Given the description of an element on the screen output the (x, y) to click on. 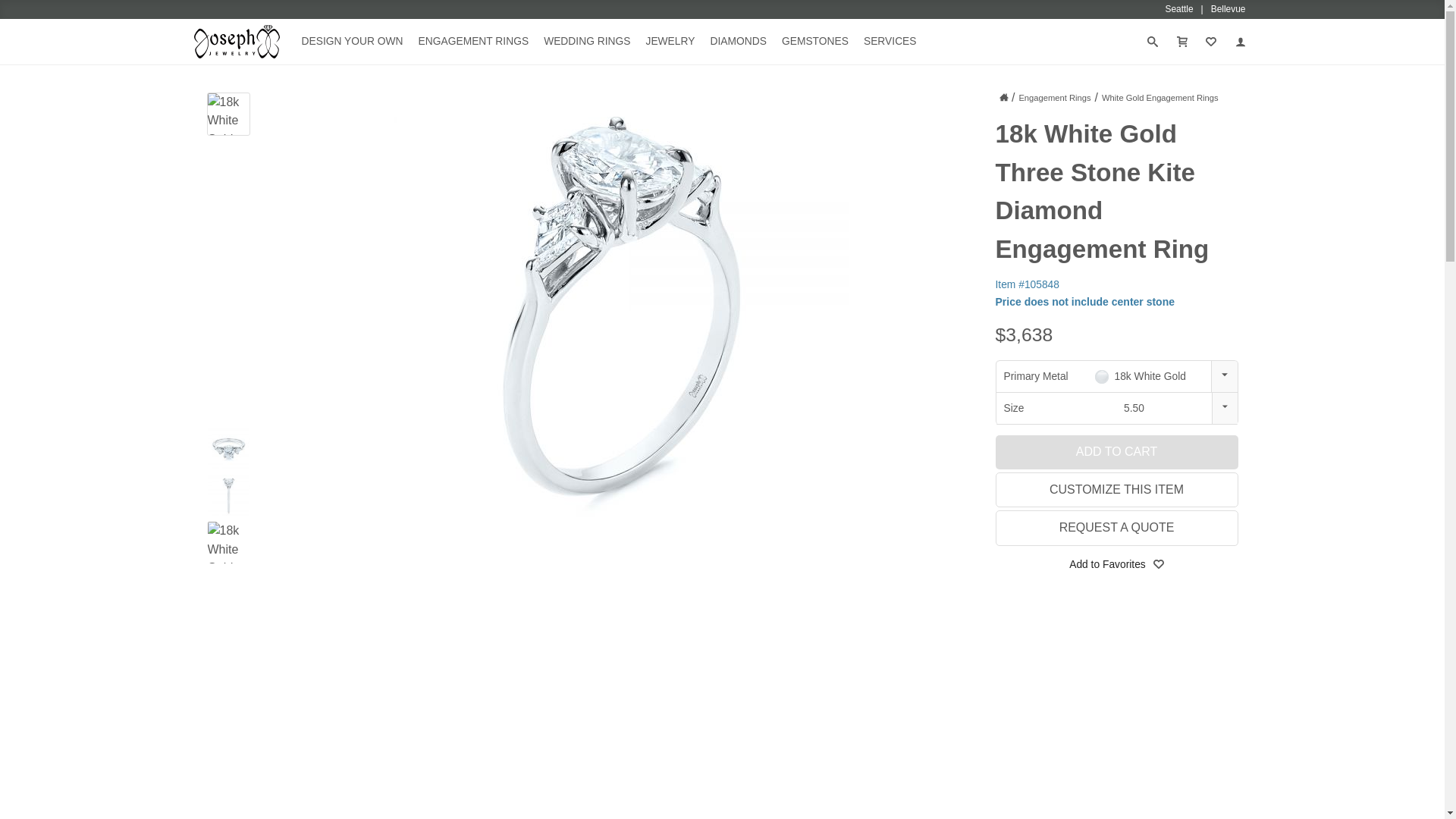
DESIGN YOUR OWN (352, 41)
Bellevue (1228, 8)
Search (25, 11)
Seattle (1186, 8)
ENGAGEMENT RINGS (473, 41)
Add to Cart (1115, 451)
